Given the description of an element on the screen output the (x, y) to click on. 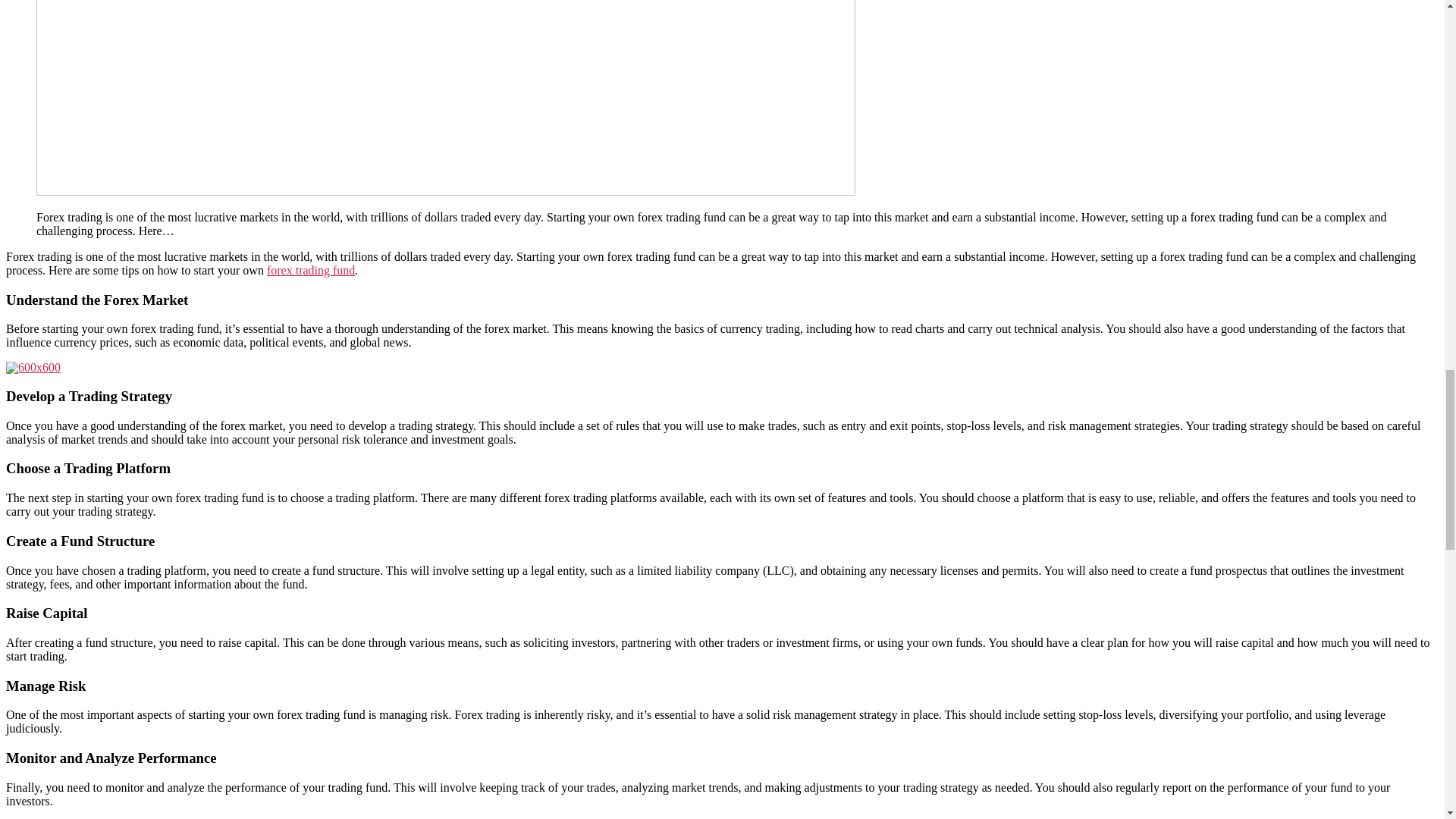
forex trading fund (310, 269)
